Given the description of an element on the screen output the (x, y) to click on. 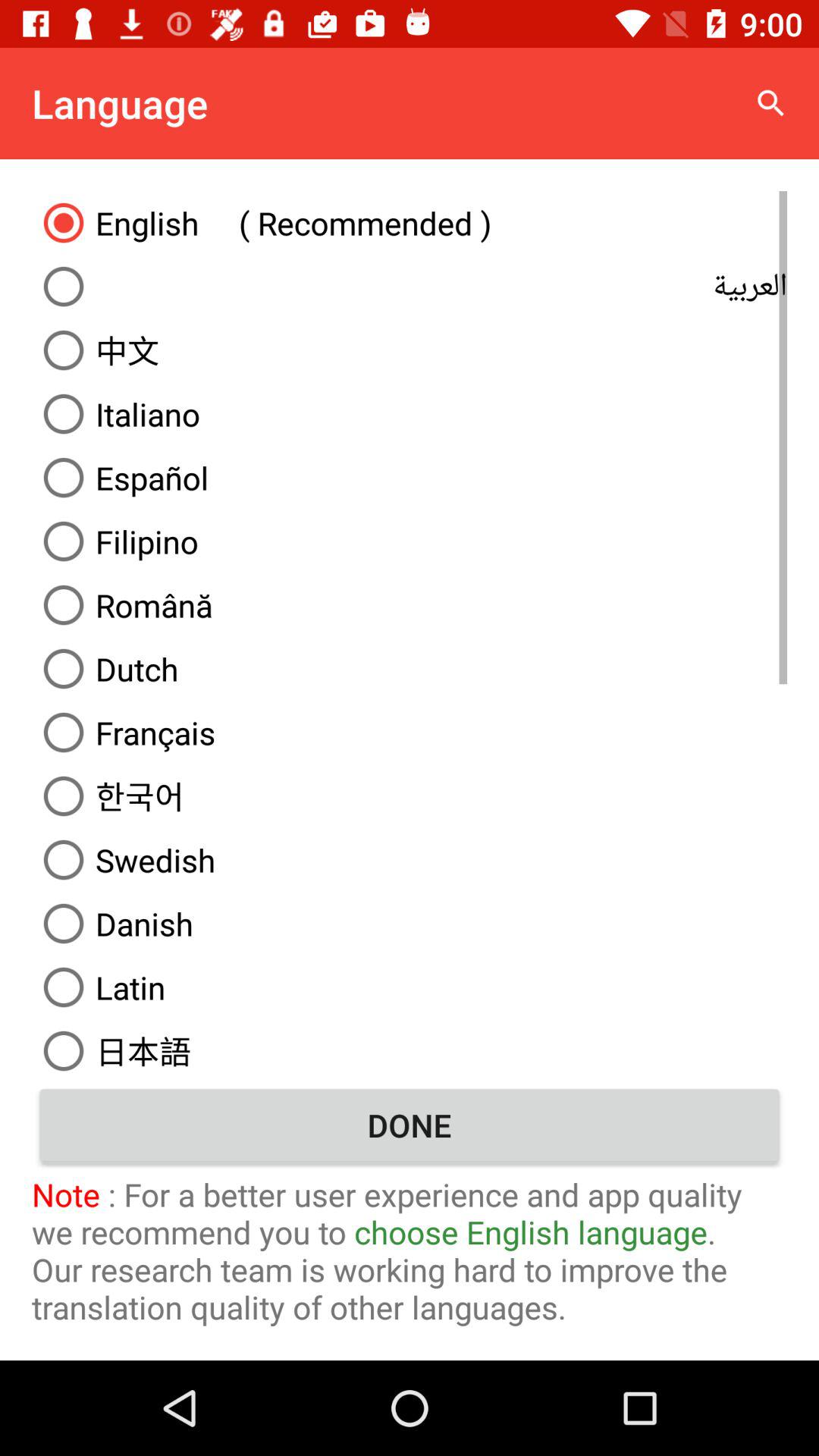
tap the item above the note for a icon (409, 1124)
